Given the description of an element on the screen output the (x, y) to click on. 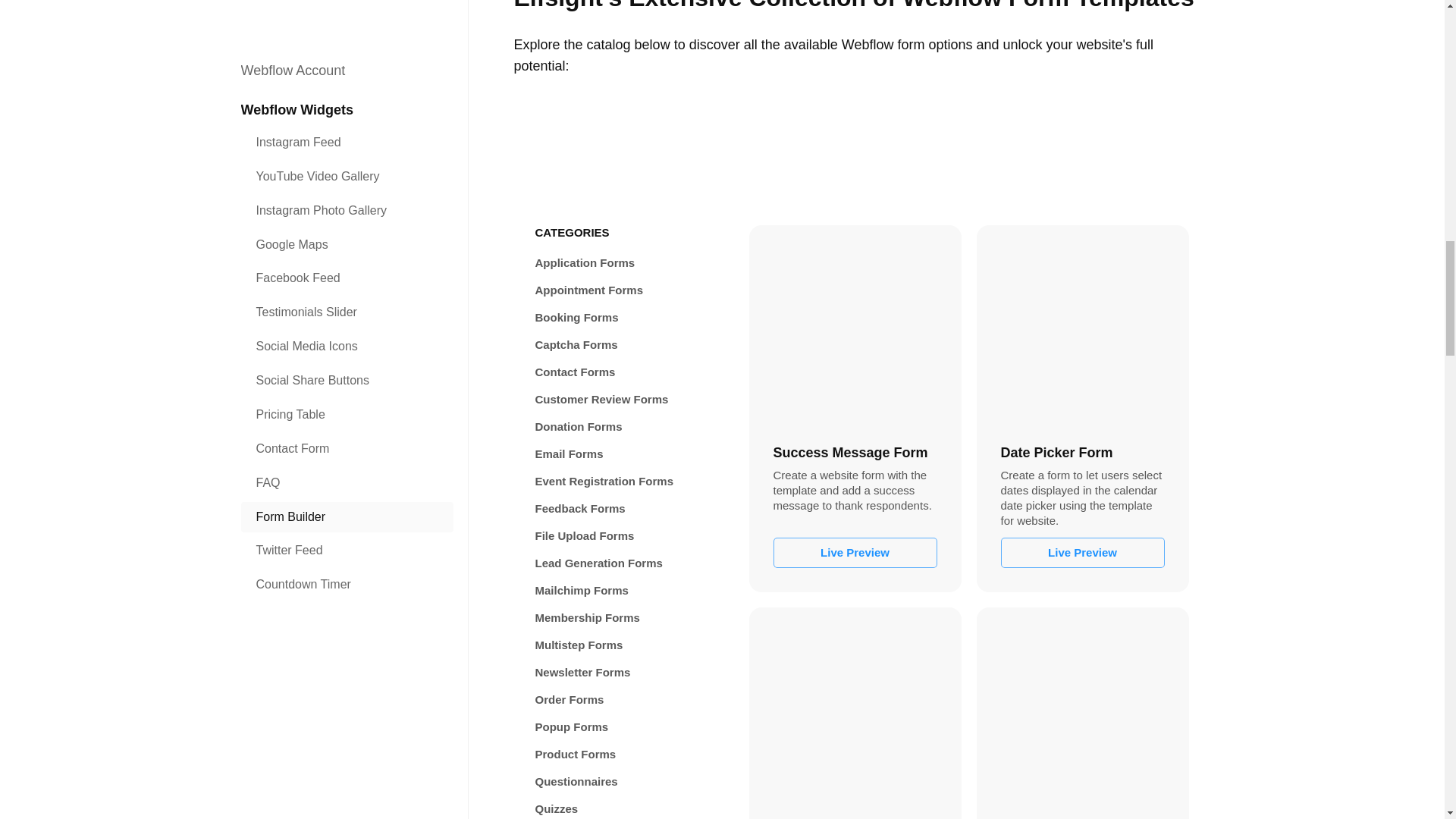
Success Message Form (855, 331)
Popup Contact Form (1082, 713)
Date Picker Form (1082, 331)
Calendar Form (855, 713)
